Given the description of an element on the screen output the (x, y) to click on. 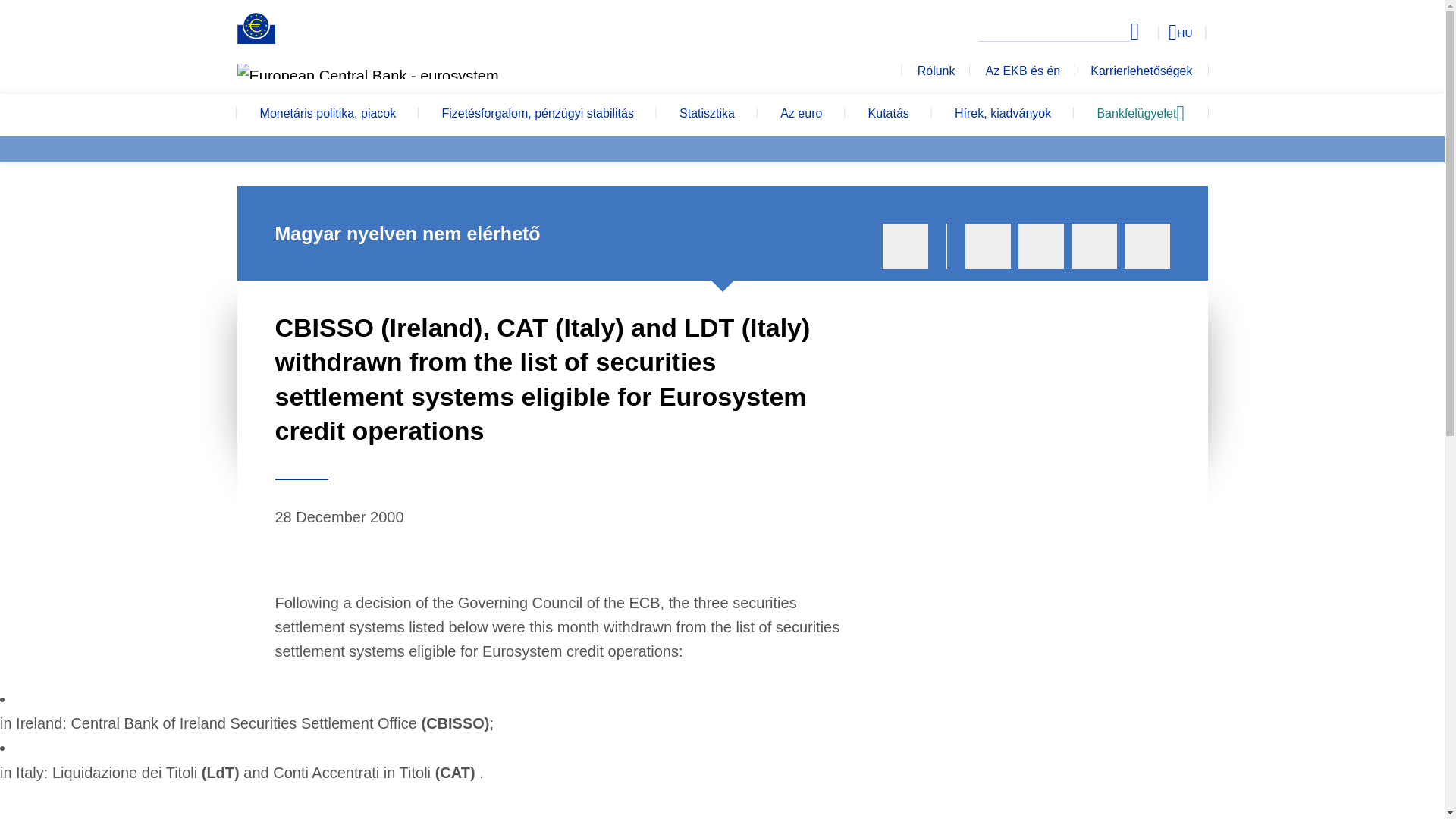
Select language (1153, 32)
